Given the description of an element on the screen output the (x, y) to click on. 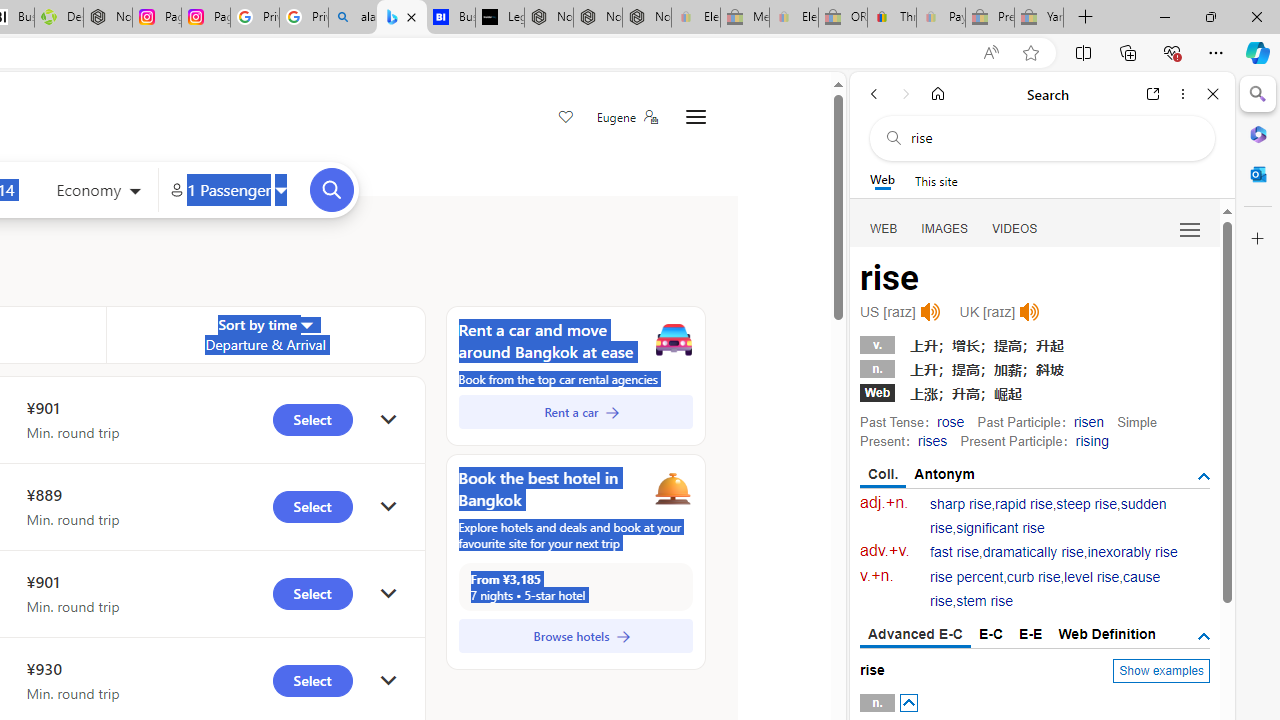
Rent a car (575, 412)
Click to listen (1029, 312)
Payments Terms of Use | eBay.com - Sleeping (940, 17)
Search Filter, WEB (884, 228)
Search Filter, VIDEOS (1015, 228)
Save (565, 118)
inexorably rise (1131, 552)
Sorter (306, 324)
